Given the description of an element on the screen output the (x, y) to click on. 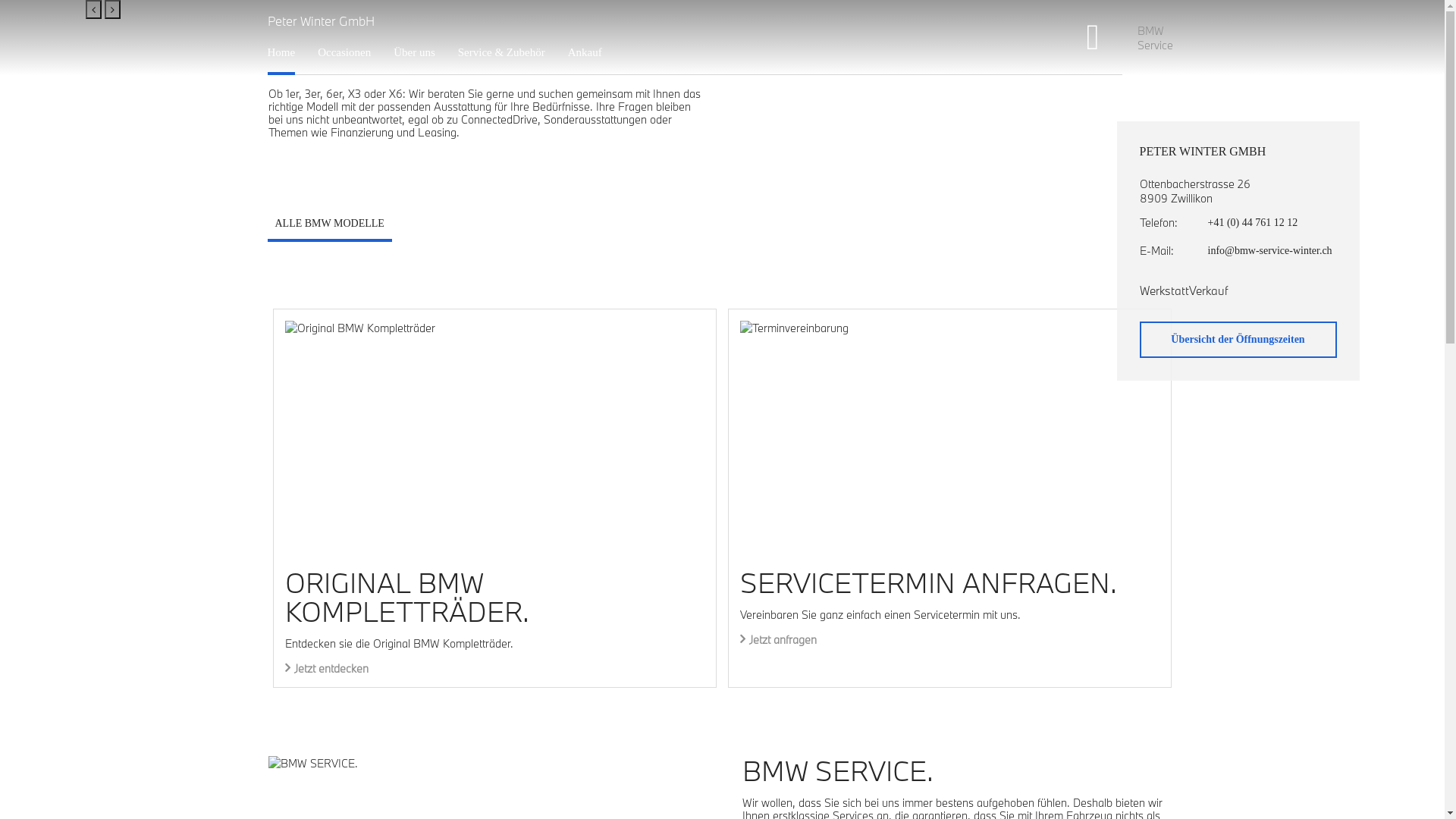
BMW Service Element type: text (1157, 36)
Occasionen Element type: text (343, 51)
Jetzt anfragen Element type: text (778, 639)
+41 (0) 44 761 12 12 Element type: text (1271, 222)
Home Element type: text (280, 51)
Shopping Tool Element type: text (1103, 37)
Jetzt entdecken Element type: text (326, 668)
info@bmw-service-winter.ch Element type: text (1271, 250)
Skip to main content Element type: text (0, 0)
Ankauf Element type: text (584, 51)
